Given the description of an element on the screen output the (x, y) to click on. 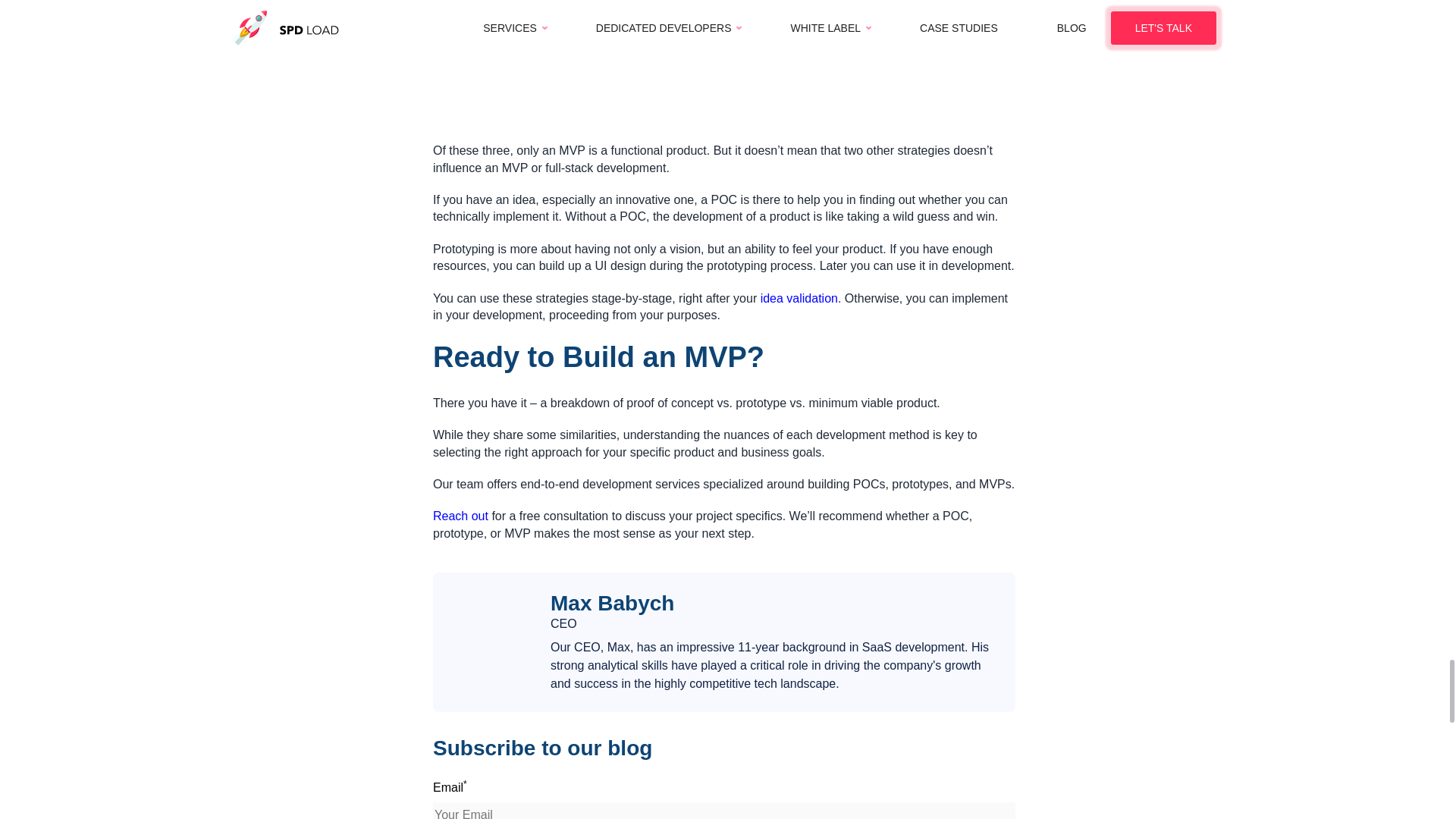
idea validation (799, 298)
Reach out (459, 515)
